Given the description of an element on the screen output the (x, y) to click on. 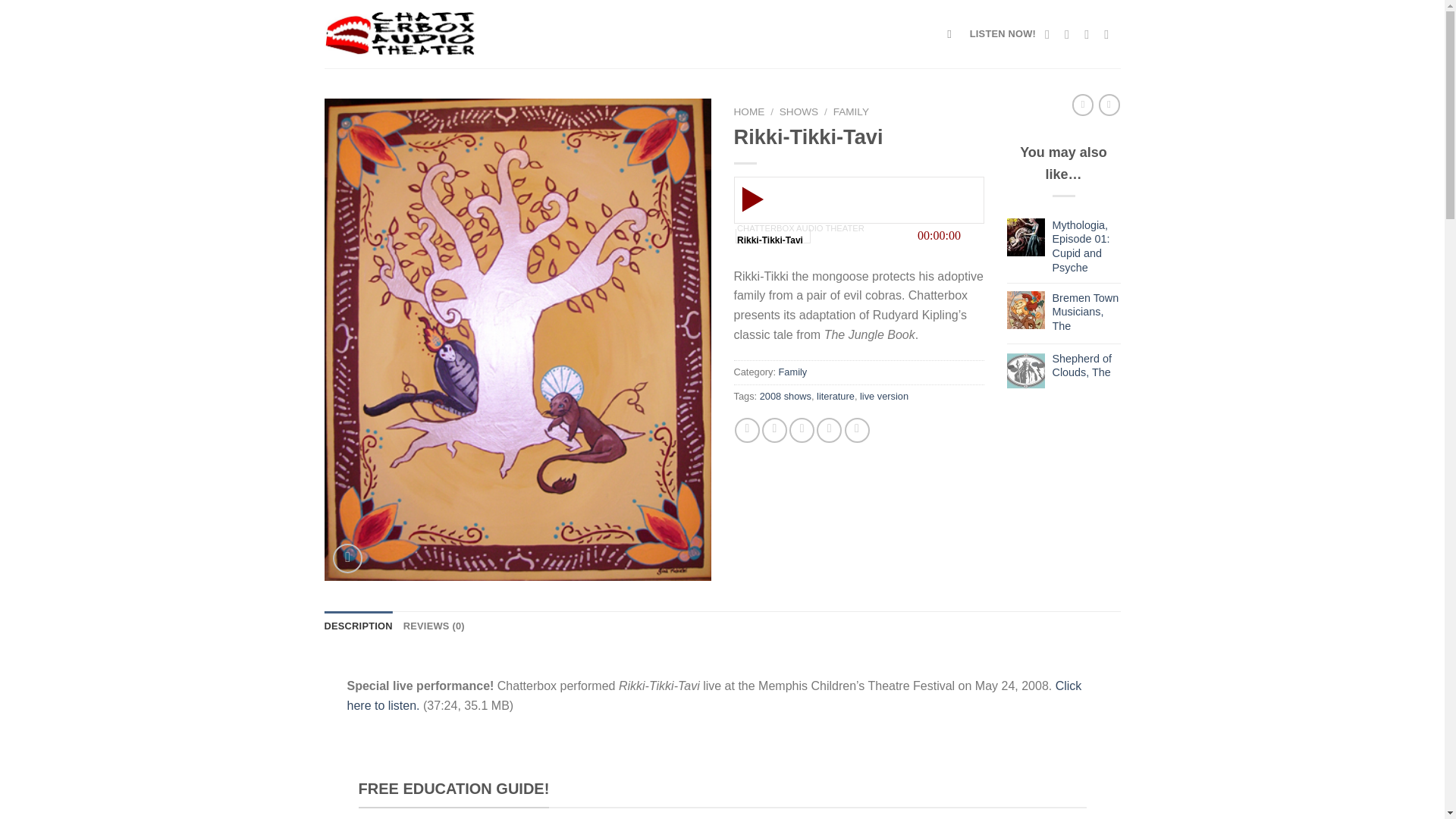
Mythologia, Episode 01: Cupid and Psyche (1086, 246)
Email to a Friend (801, 430)
Bremen Town Musicians, The (1086, 312)
Share on Facebook (747, 430)
Pin on Pinterest (828, 430)
Subscribe to RSS (1090, 33)
HOME (749, 111)
Follow on YouTube (1109, 33)
Share on Twitter (774, 430)
FAMILY (850, 111)
2008 shows (785, 395)
LISTEN NOW! (1002, 33)
Share on LinkedIn (856, 430)
literature (835, 395)
